Given the description of an element on the screen output the (x, y) to click on. 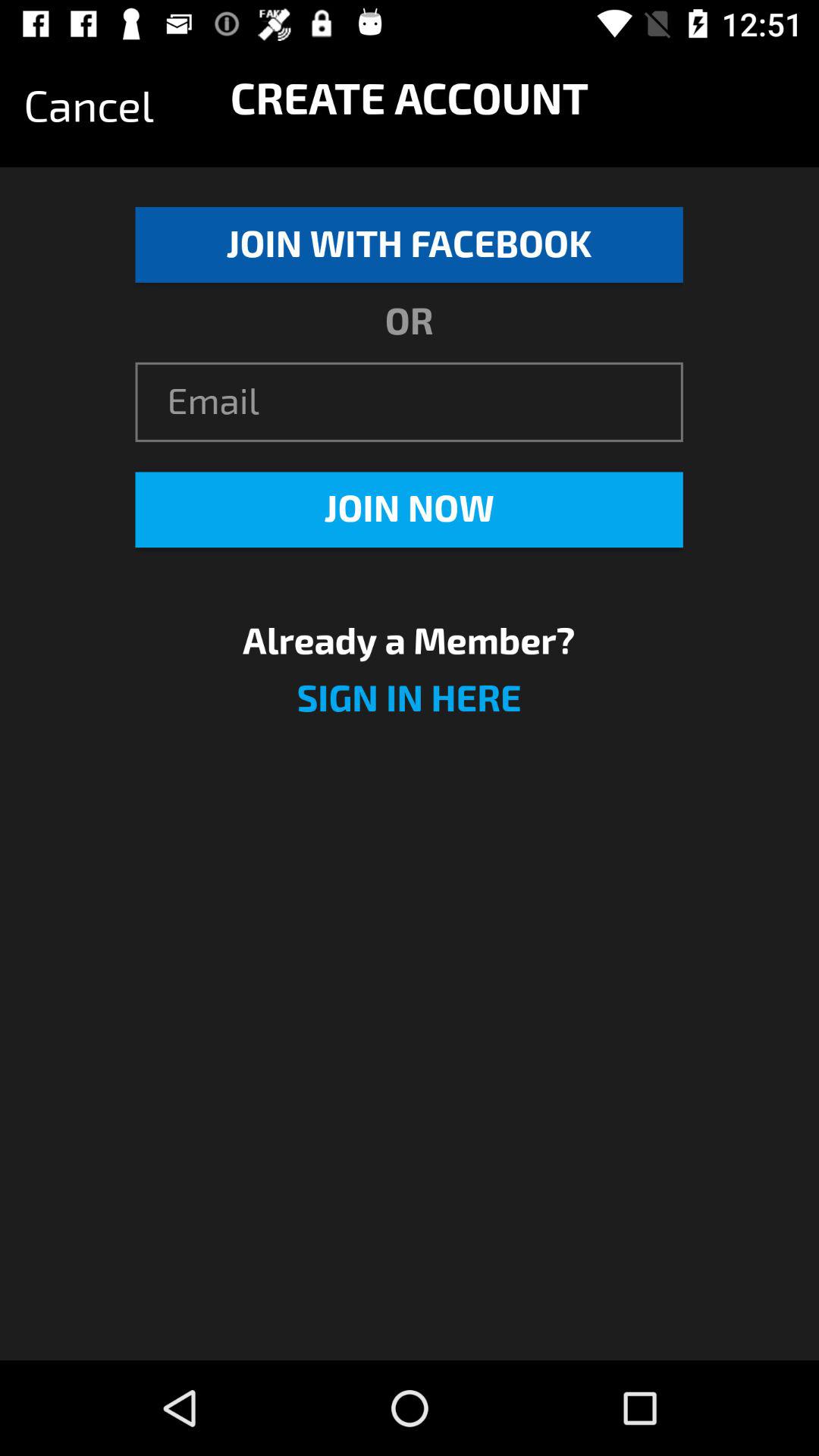
click the icon above the already a member? (409, 509)
